Given the description of an element on the screen output the (x, y) to click on. 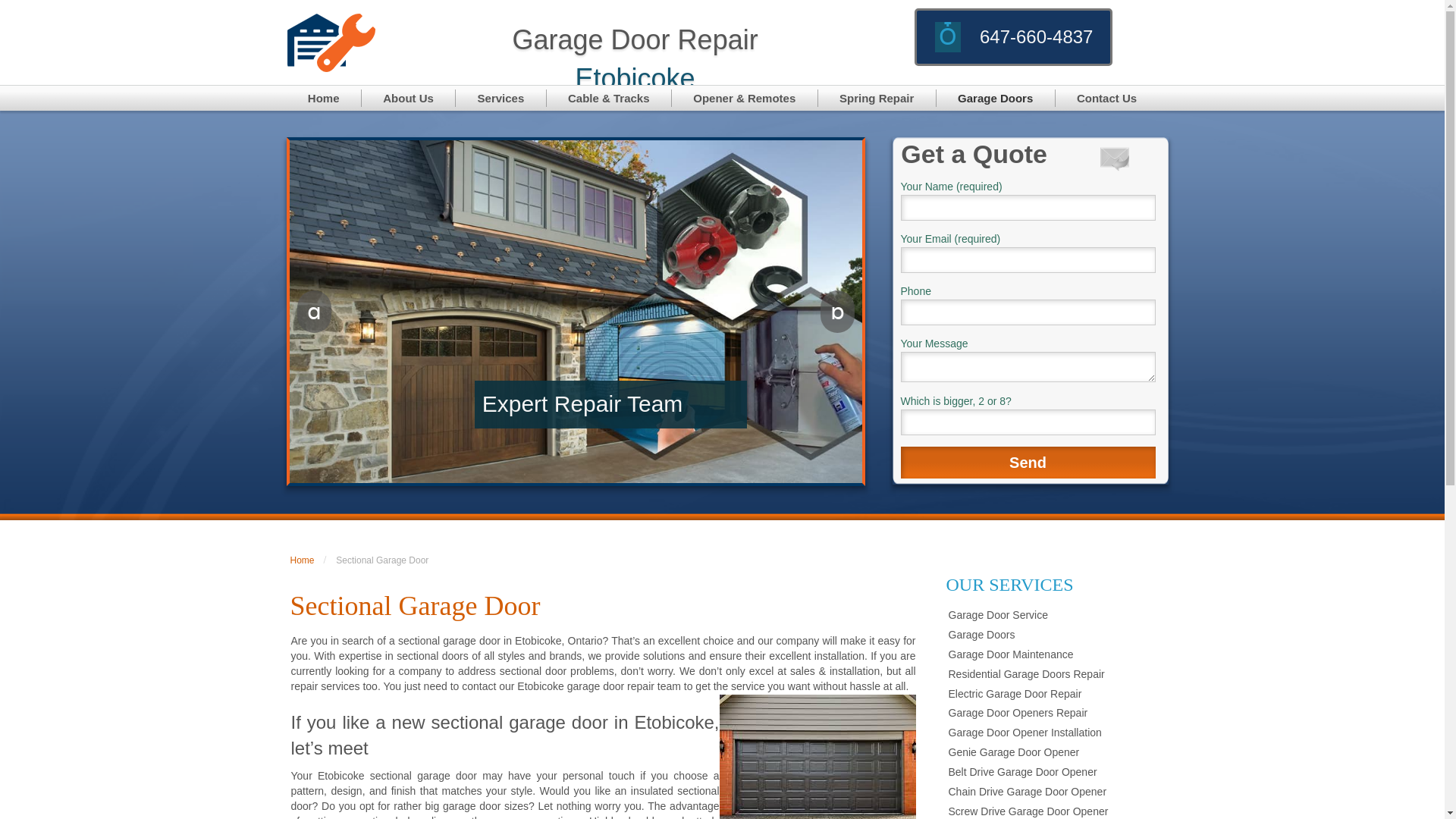
Send (1028, 462)
647-660-4837 (1036, 36)
